Given the description of an element on the screen output the (x, y) to click on. 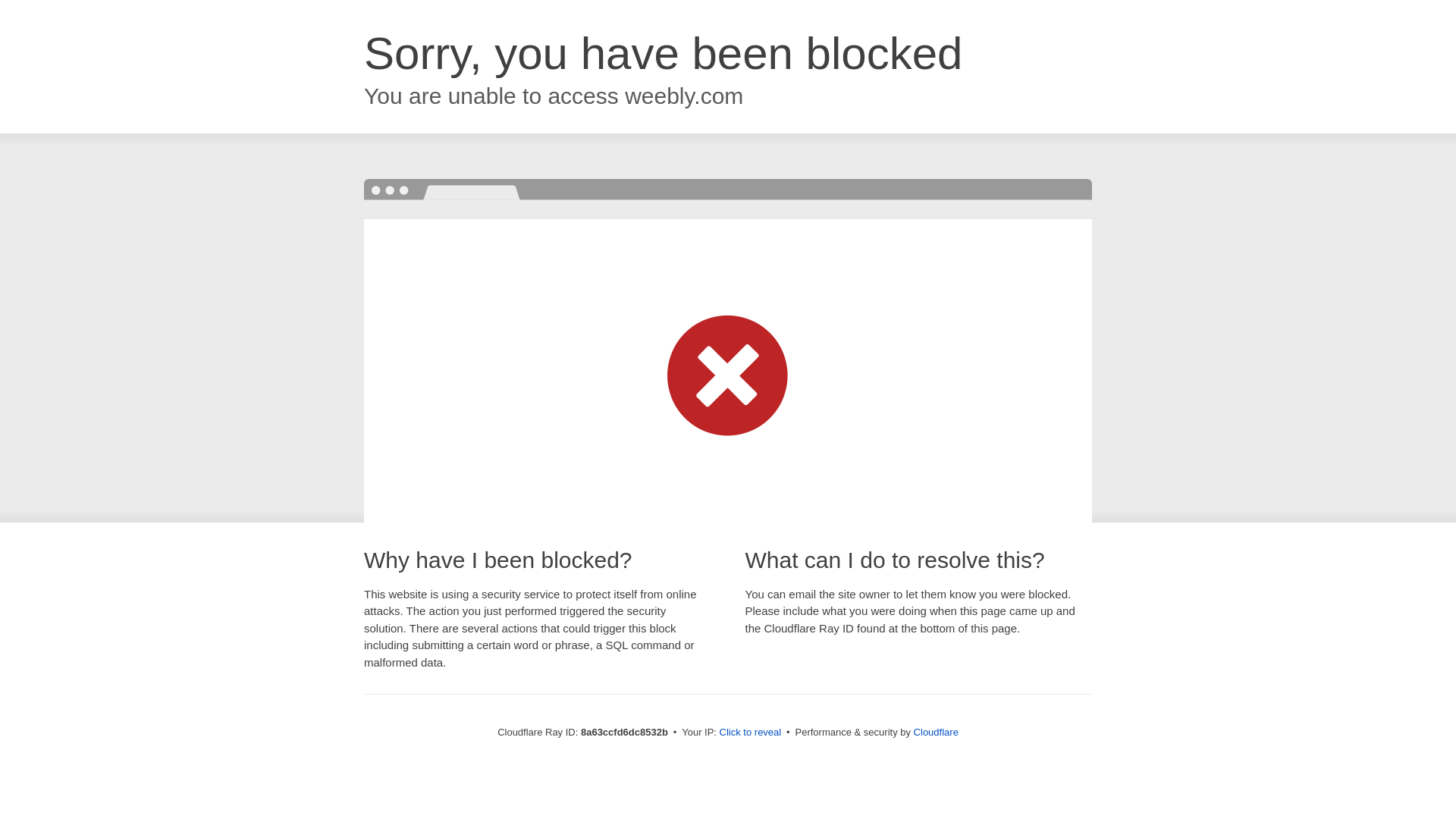
Cloudflare (936, 731)
Click to reveal (750, 732)
